Given the description of an element on the screen output the (x, y) to click on. 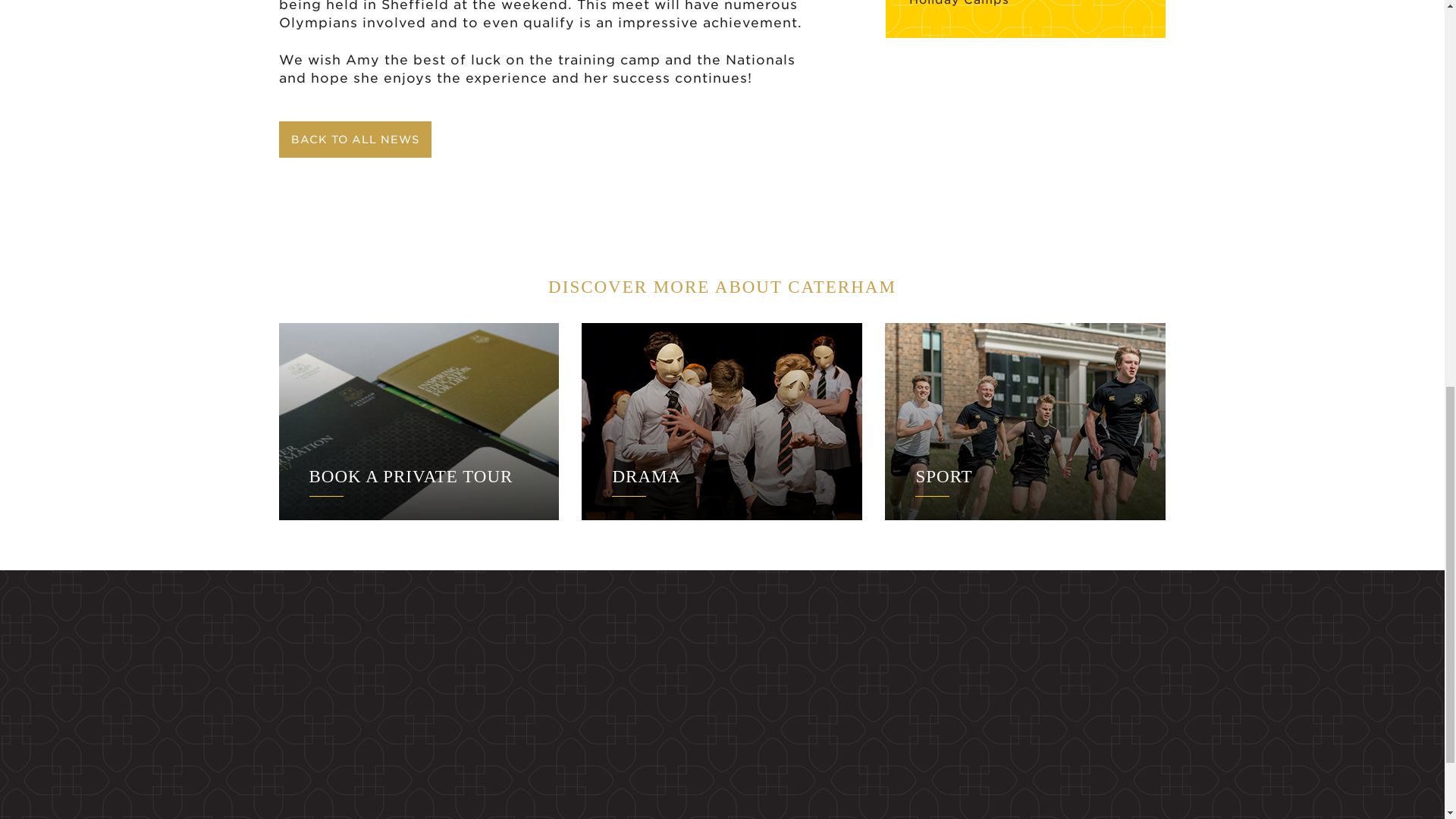
BACK TO ALL NEWS (353, 139)
